Given the description of an element on the screen output the (x, y) to click on. 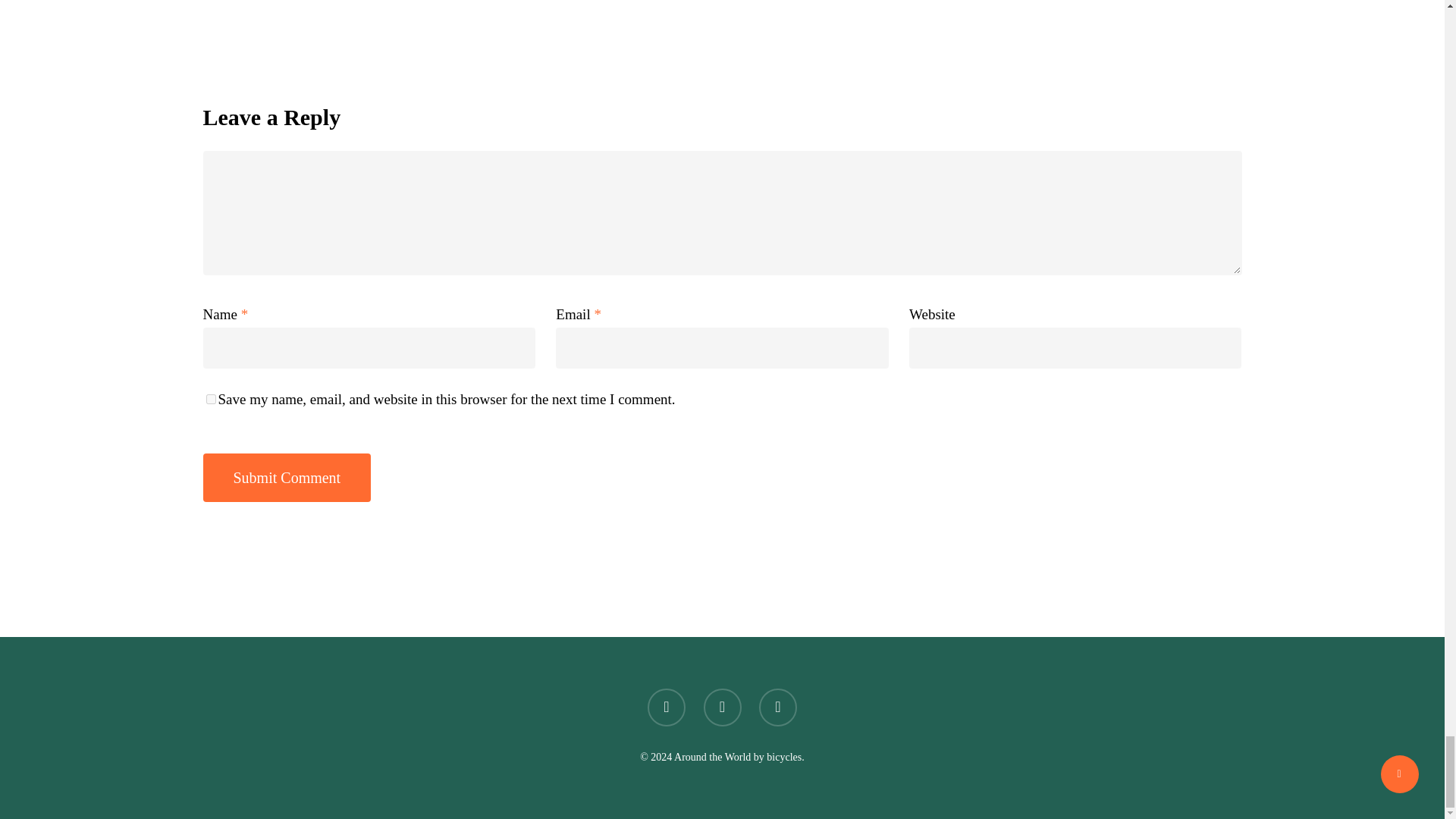
yes (210, 398)
Submit Comment (287, 477)
Submit Comment (287, 477)
